Given the description of an element on the screen output the (x, y) to click on. 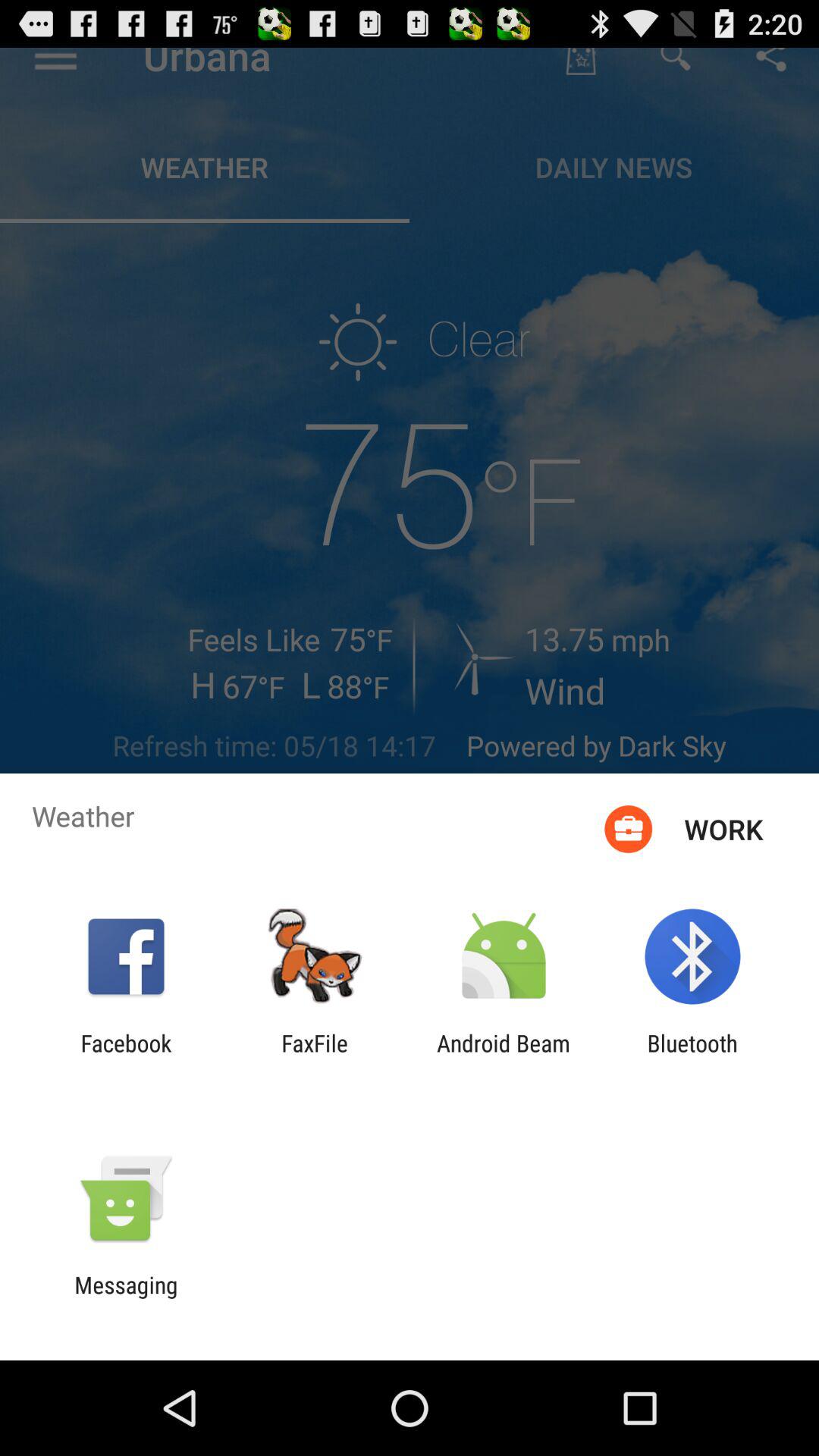
open android beam app (503, 1056)
